Given the description of an element on the screen output the (x, y) to click on. 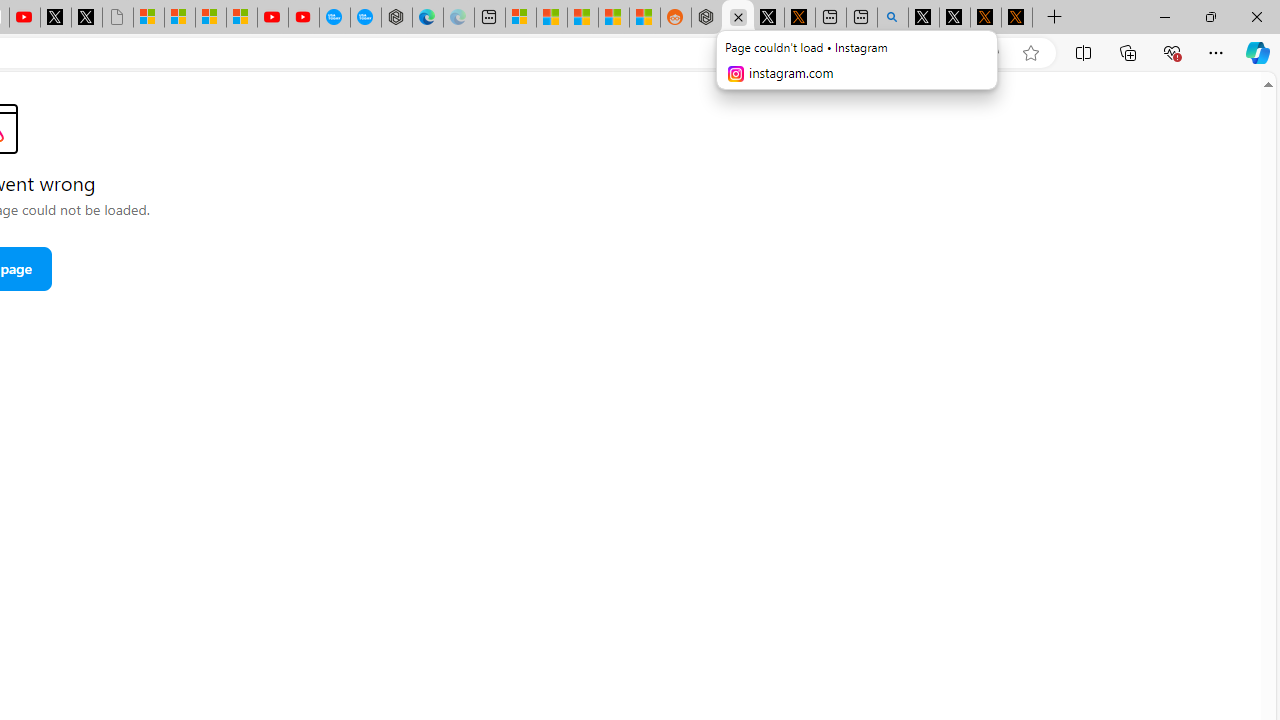
GitHub (@github) / X (954, 17)
X Privacy Policy (1016, 17)
Shanghai, China hourly forecast | Microsoft Weather (582, 17)
Untitled (117, 17)
